Given the description of an element on the screen output the (x, y) to click on. 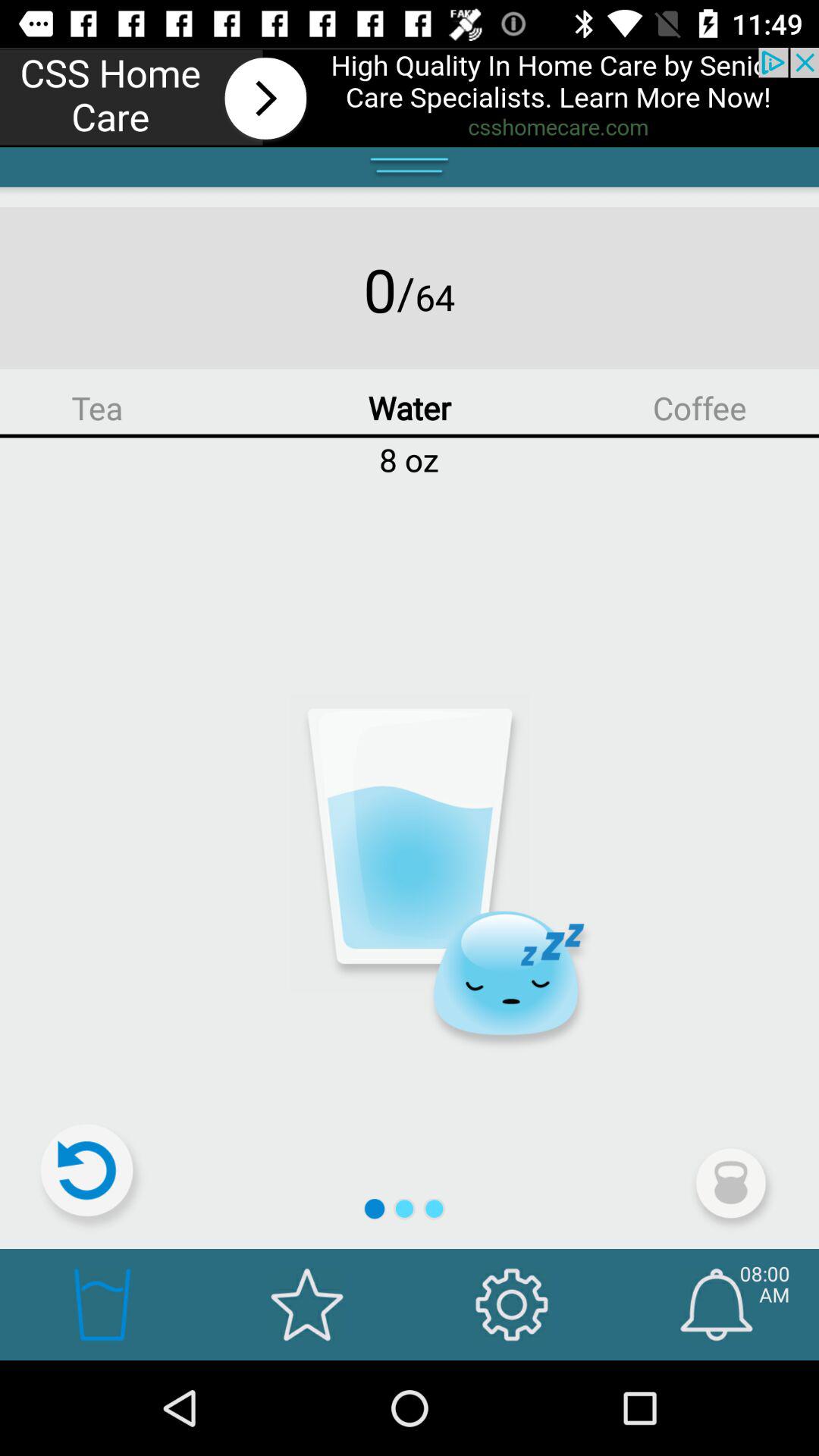
open advertisement (409, 97)
